Given the description of an element on the screen output the (x, y) to click on. 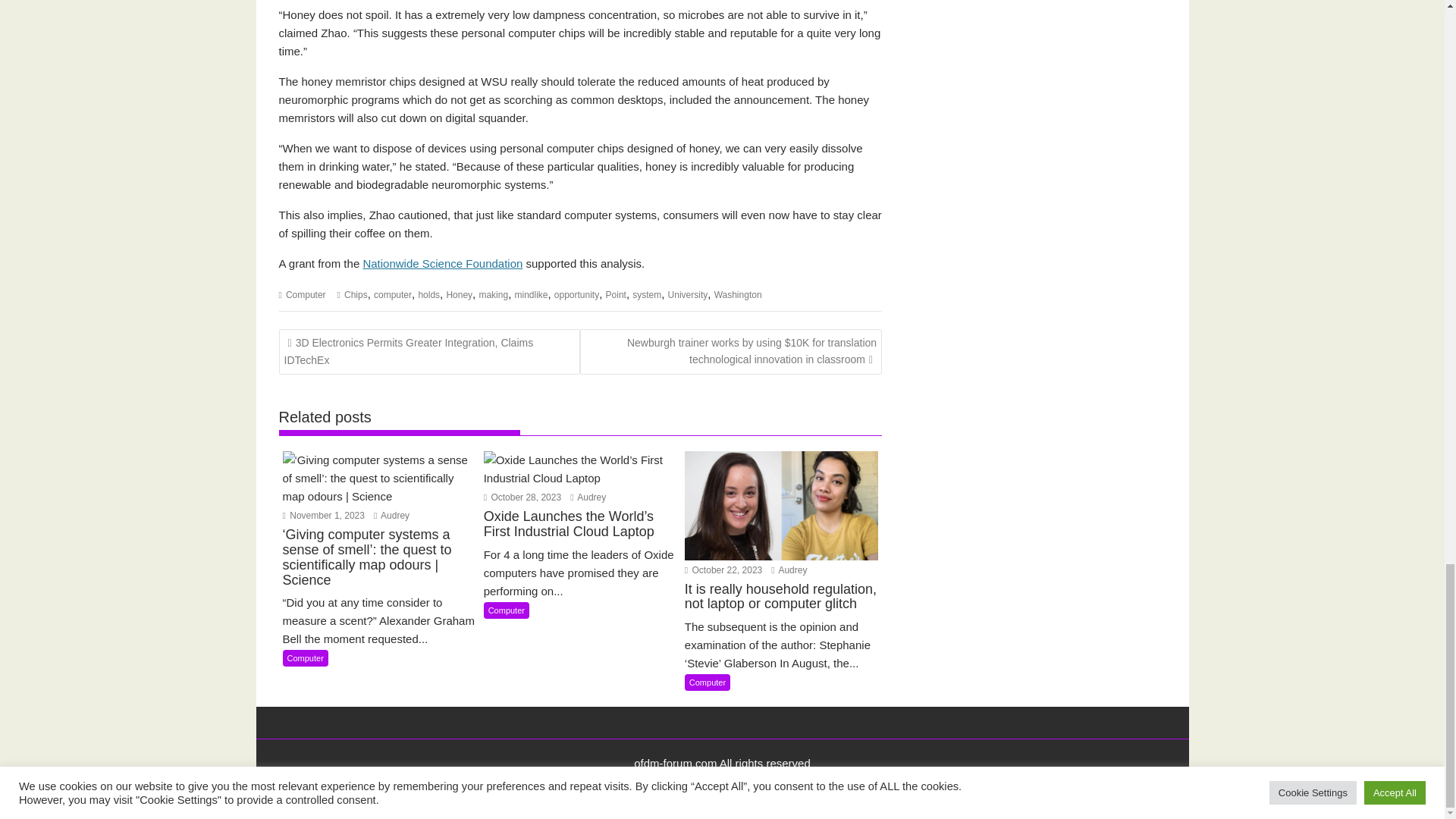
Audrey (788, 570)
Audrey (587, 497)
Audrey (391, 515)
